Given the description of an element on the screen output the (x, y) to click on. 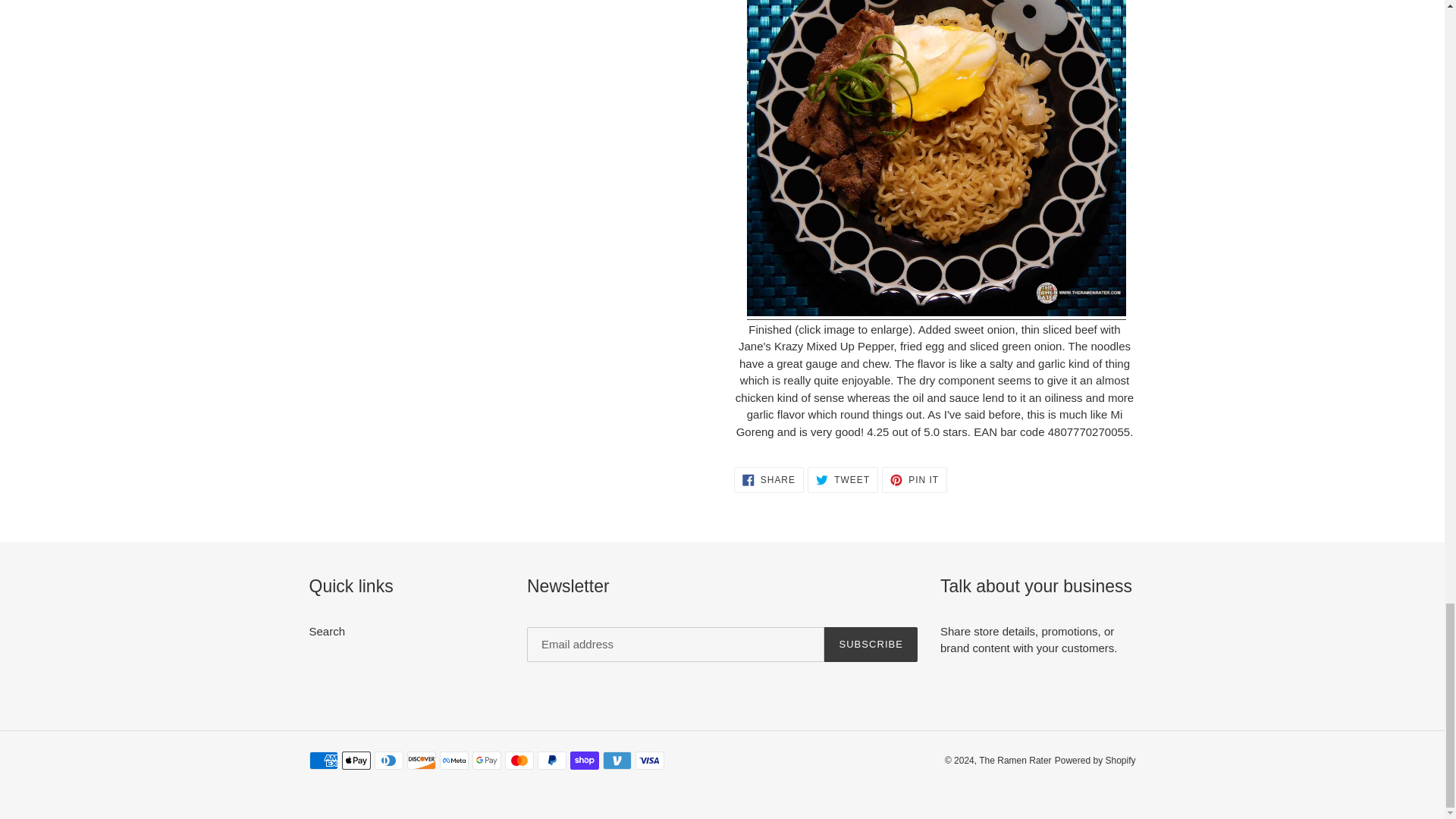
Powered by Shopify (1094, 760)
The Ramen Rater (1014, 760)
Search (768, 479)
SUBSCRIBE (327, 631)
